Given the description of an element on the screen output the (x, y) to click on. 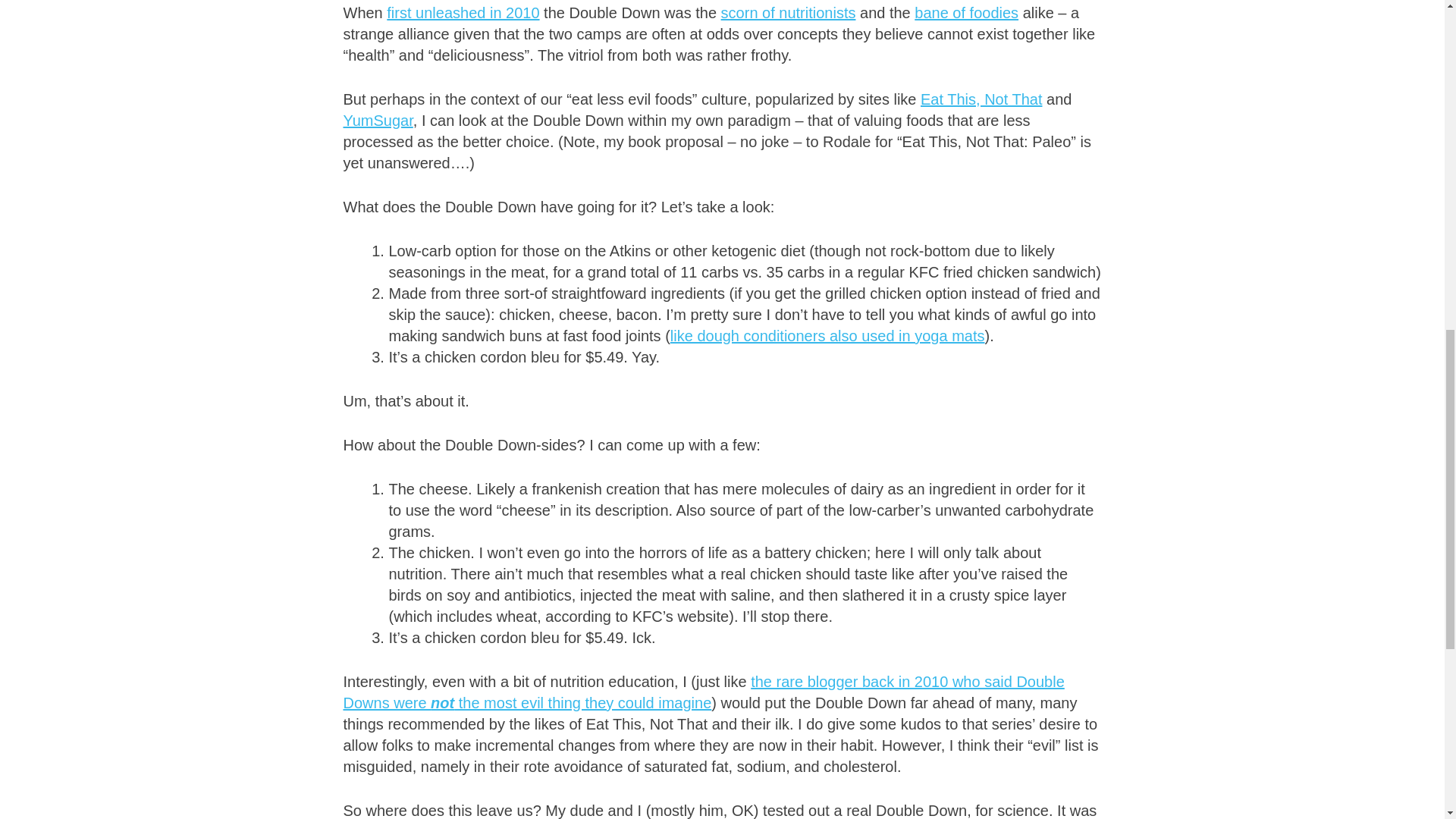
Eat This, Not That (981, 98)
Men's Health Eat This Not That takes on the Double Down (981, 98)
like dough conditioners also used in yoga mats (827, 335)
Sam Sifton NY Times (965, 12)
YumSugar (377, 120)
2010's Double Down review (462, 12)
scorn of nutritionists (788, 12)
Consumerist - double down not totally evil (703, 692)
YumSugar eats the double down (377, 120)
